Given the description of an element on the screen output the (x, y) to click on. 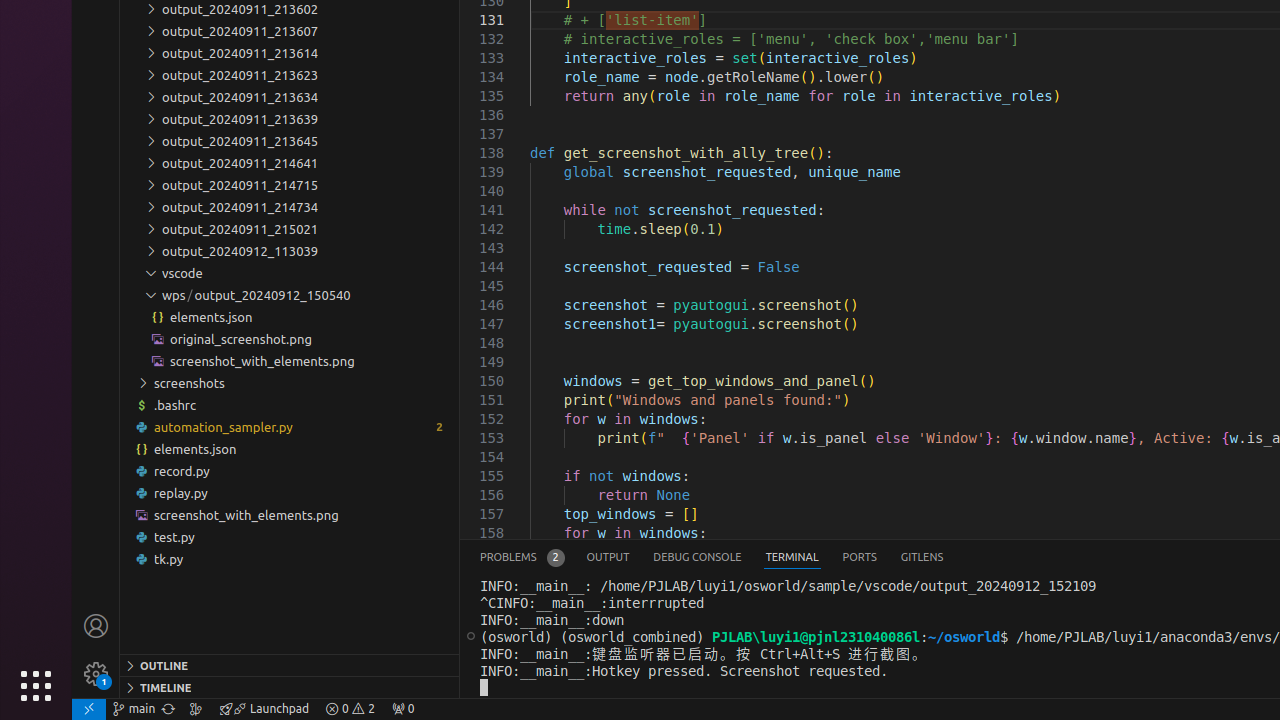
screenshot_with_elements.png Element type: tree-item (289, 514)
screenshots Element type: tree-item (289, 383)
vscode Element type: tree-item (289, 273)
Warnings: 2 Element type: push-button (350, 709)
original_screenshot.png Element type: tree-item (289, 339)
